Given the description of an element on the screen output the (x, y) to click on. 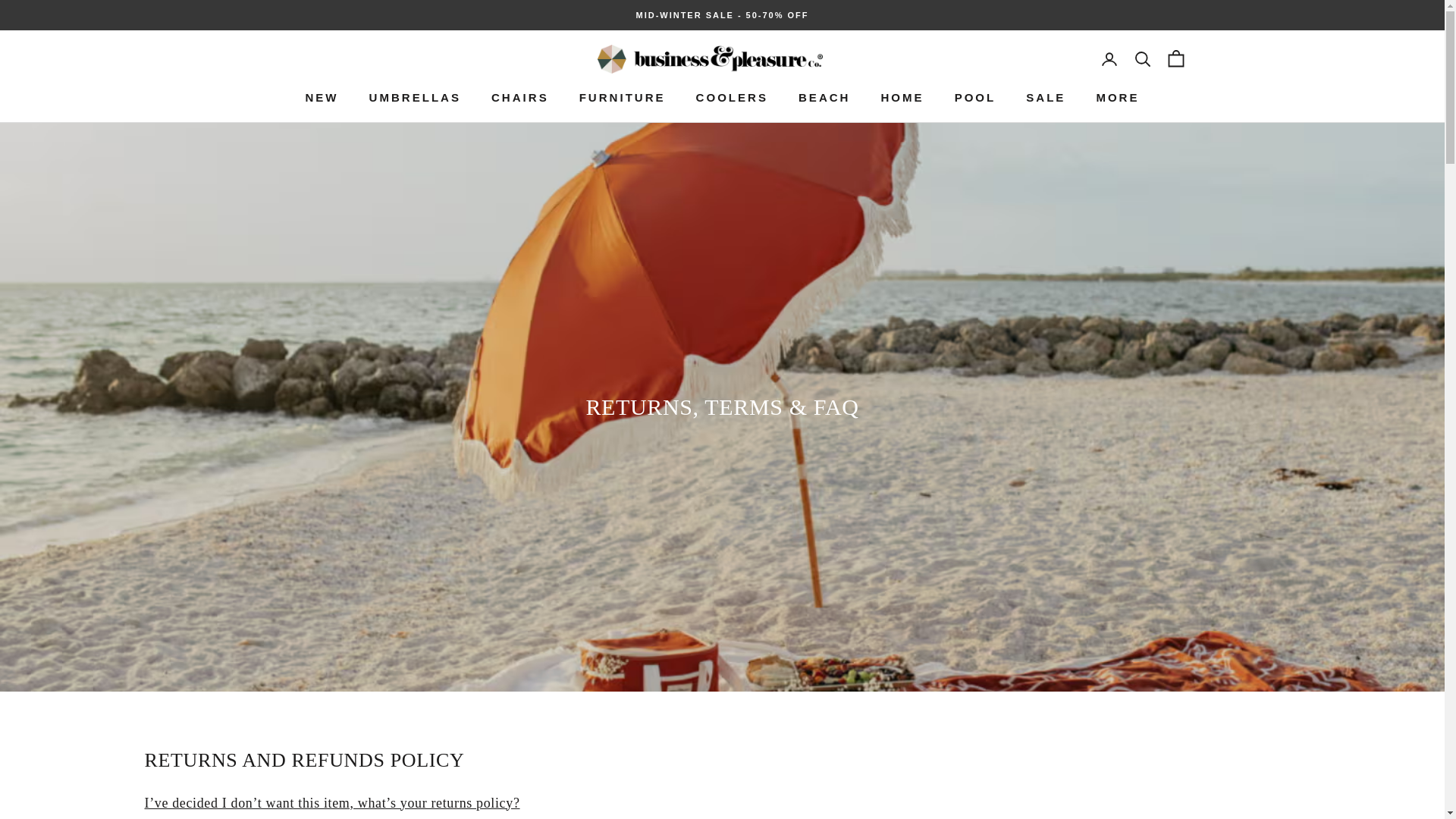
EOFY Sale (722, 14)
